Given the description of an element on the screen output the (x, y) to click on. 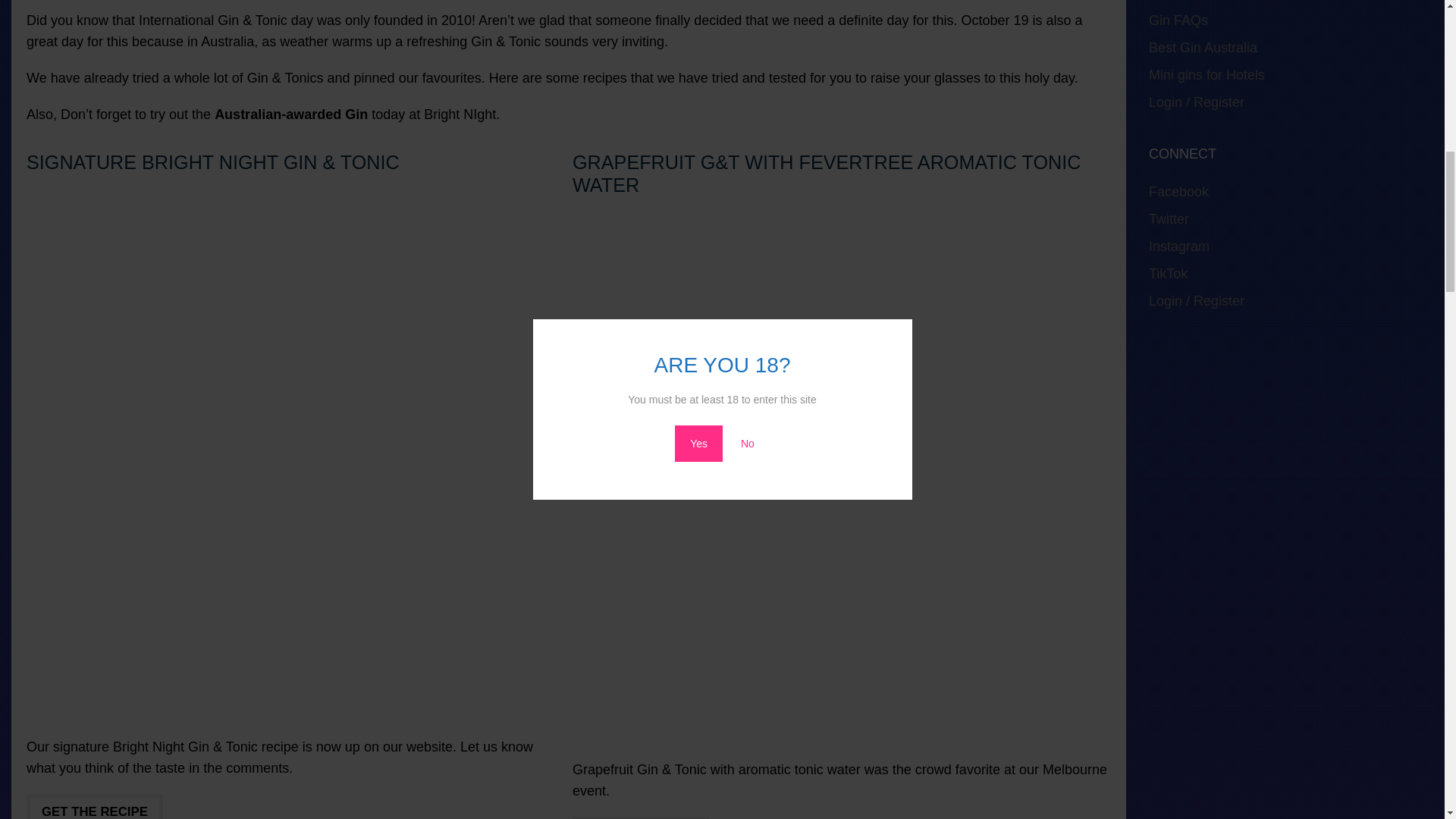
Australian-awarded Gin (291, 114)
GET THE RECIPE (94, 806)
GET THE RECIPE (640, 817)
